Given the description of an element on the screen output the (x, y) to click on. 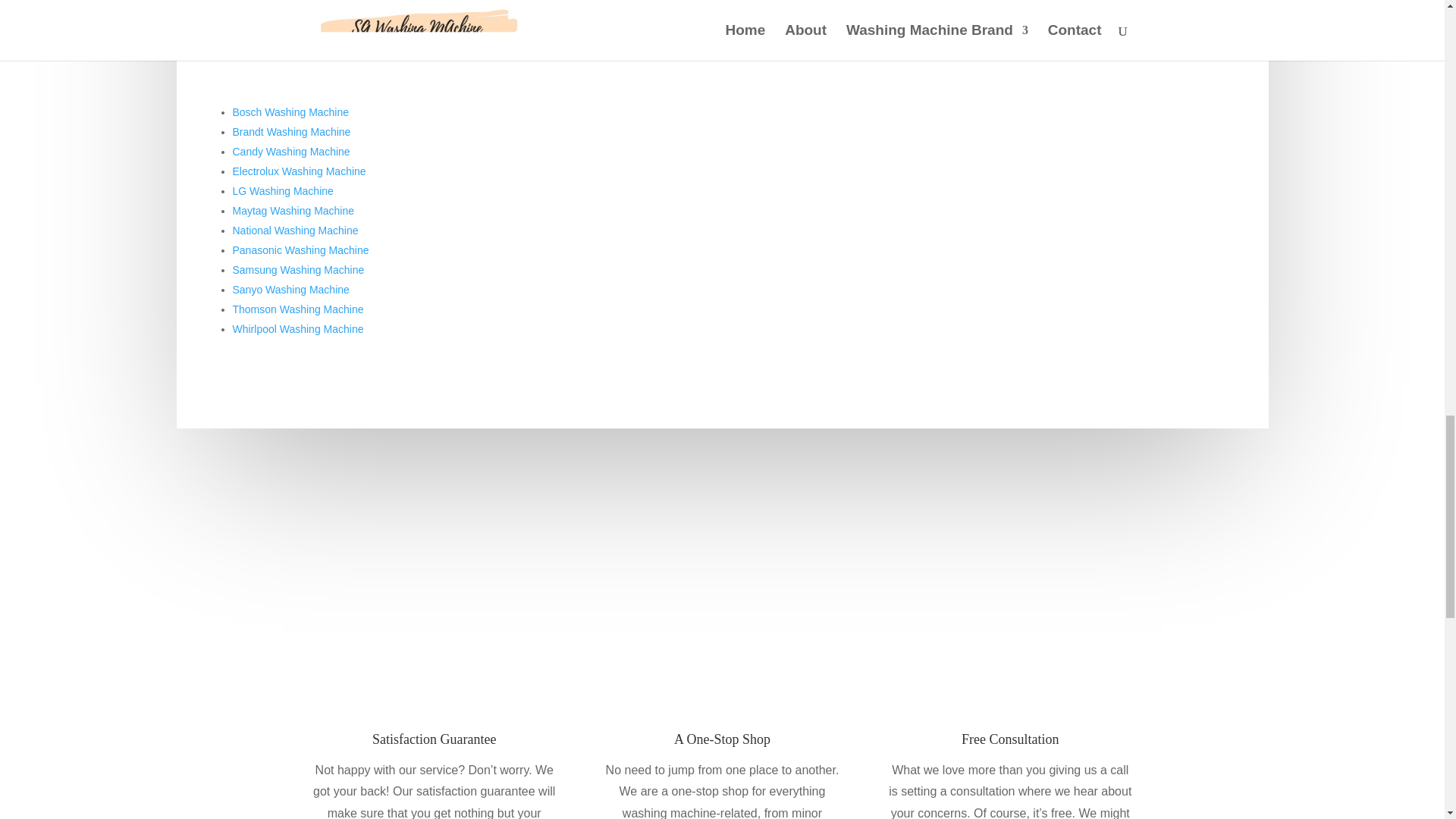
Electrolux Washing Machine (298, 171)
Brandt Washing Machine (290, 132)
Bosch Washing Machine (290, 111)
Samsung Washing Machine (297, 269)
Maytag Washing Machine (292, 210)
Sanyo Washing Machine (290, 289)
National Washing Machine (294, 230)
Whirlpool Washing Machine (296, 328)
Candy Washing Machine (290, 151)
Thomson Washing Machine (296, 309)
LG Washing Machine (282, 191)
Panasonic Washing Machine (299, 250)
